Given the description of an element on the screen output the (x, y) to click on. 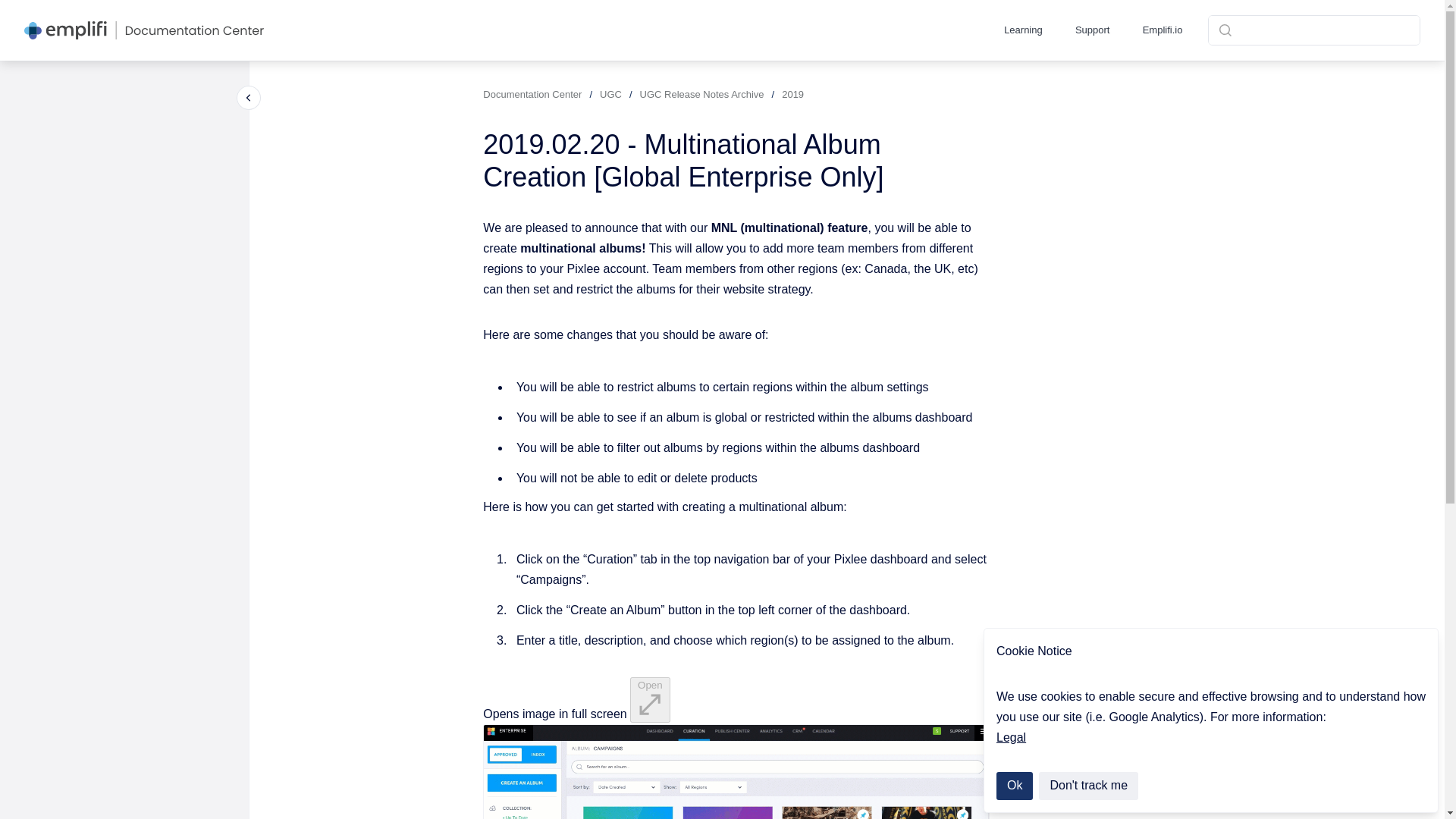
Ok (1013, 786)
2019 (792, 94)
Don't track me (1088, 786)
Legal (1010, 737)
UGC (610, 94)
Emplifi.io (1162, 30)
Support (1092, 30)
UGC Release Notes Archive (702, 94)
Go to homepage (144, 30)
Documentation Center (531, 94)
Learning (1023, 30)
